Given the description of an element on the screen output the (x, y) to click on. 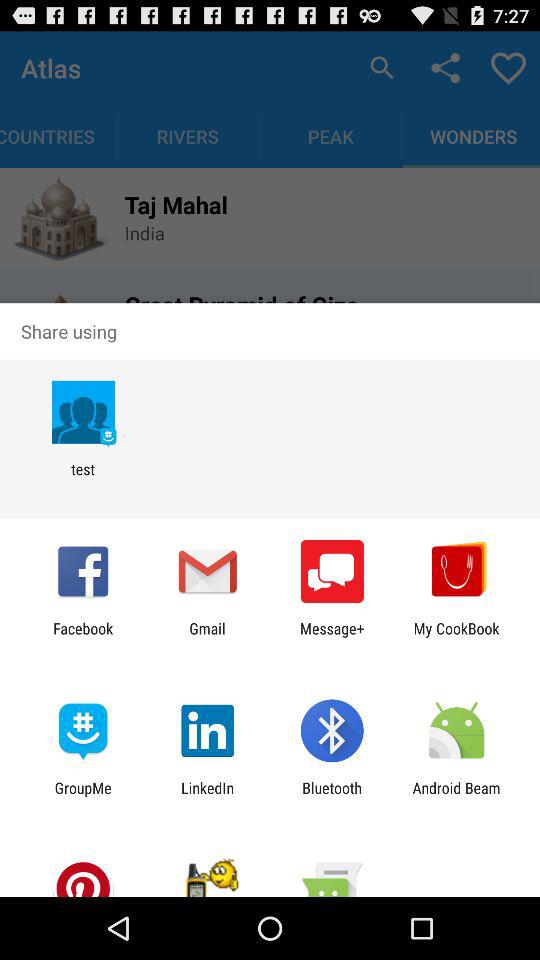
turn on the item next to the gmail icon (83, 637)
